Given the description of an element on the screen output the (x, y) to click on. 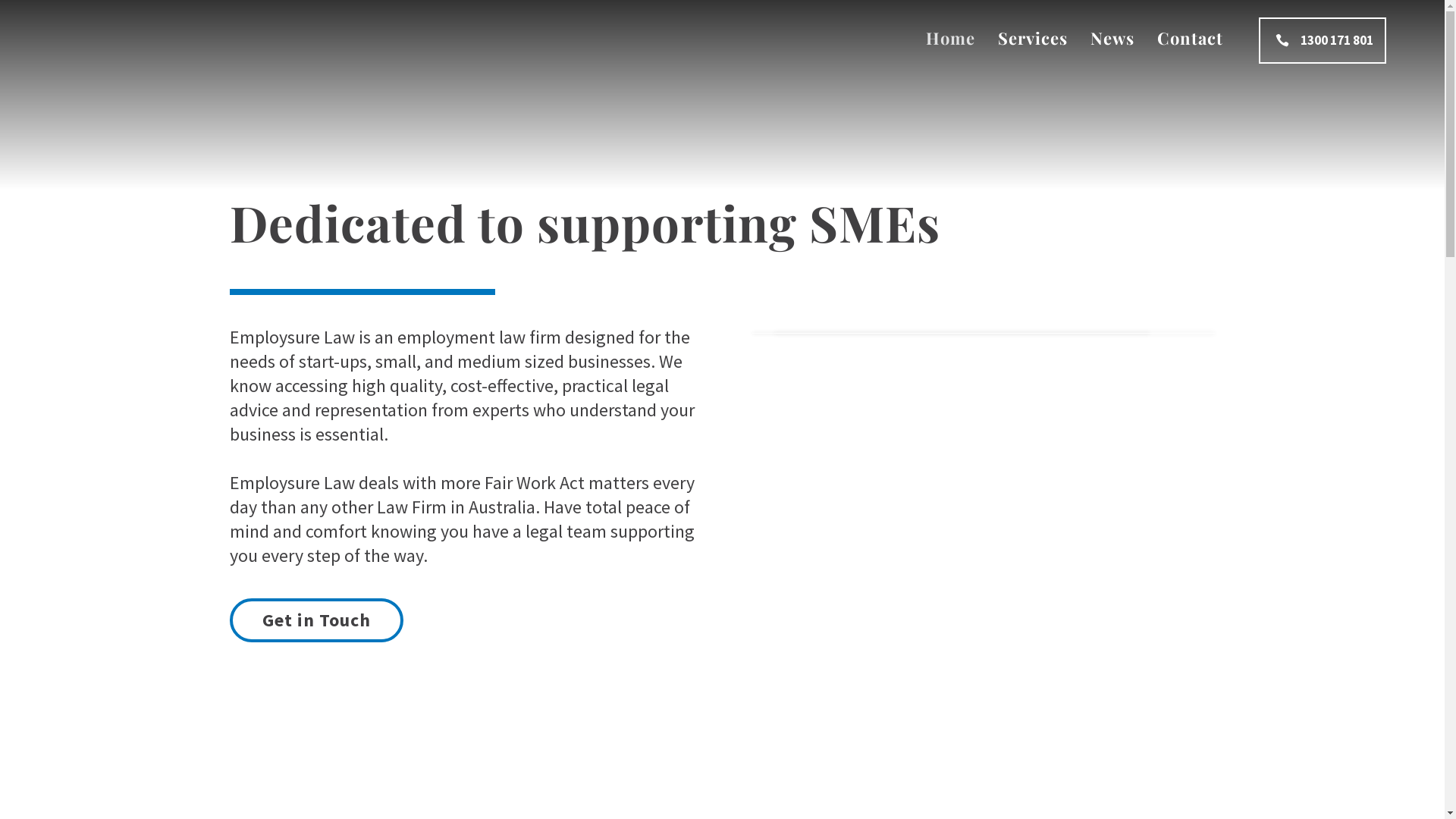
Get in Touch Element type: text (315, 620)
Home Element type: text (950, 37)
Services Element type: text (1032, 37)
News Element type: text (1112, 37)
Contact Element type: text (1189, 37)
1300 171 801 Element type: text (1322, 40)
